Given the description of an element on the screen output the (x, y) to click on. 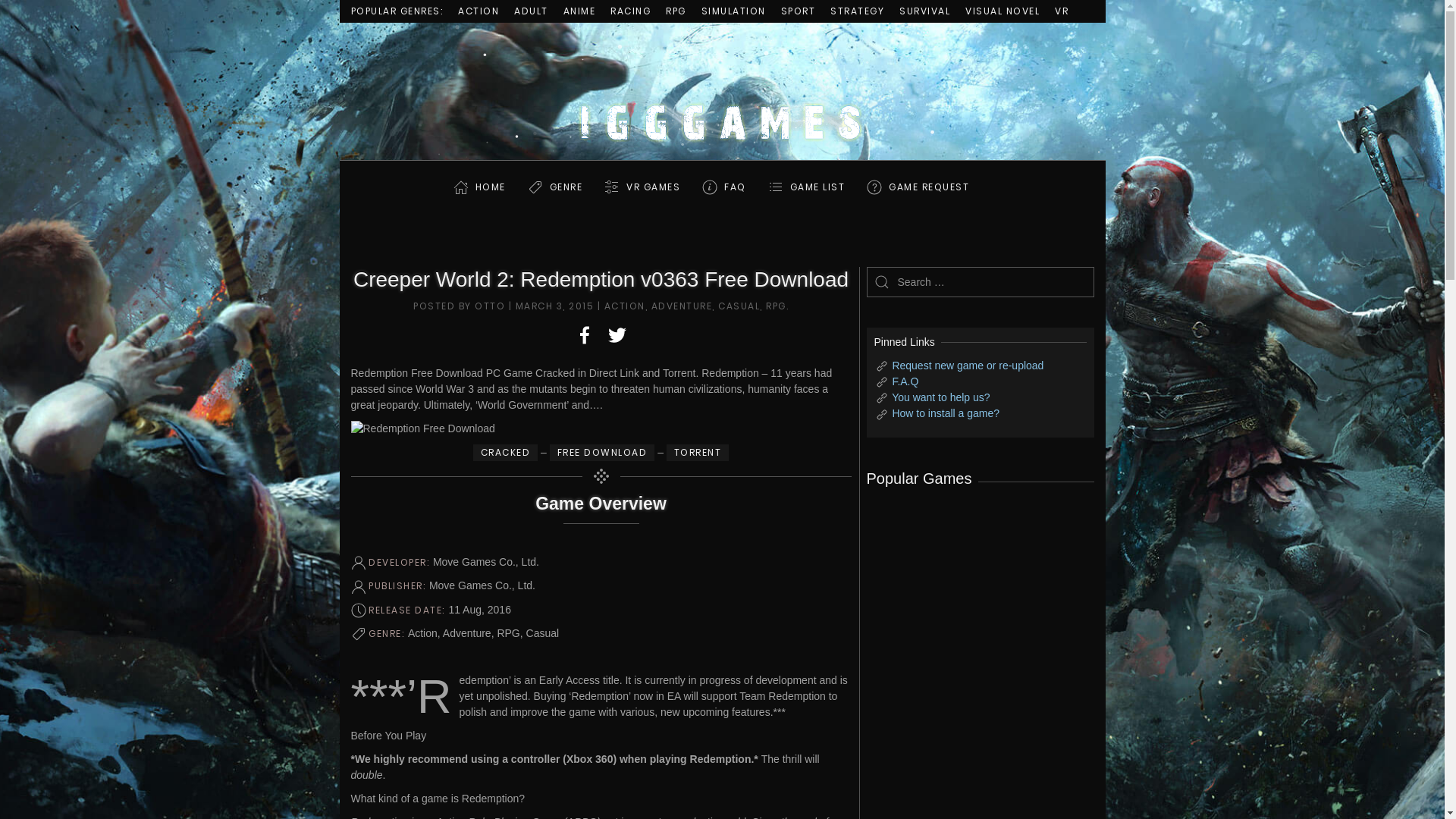
POPULAR GENRES: Element type: text (396, 11)
Request new game or re-upload Element type: text (967, 365)
FAQ Element type: text (735, 186)
You want to help us? Element type: text (940, 397)
ADVENTURE Element type: text (681, 305)
GENRE Element type: text (566, 186)
HOME Element type: text (490, 186)
RPG Element type: text (675, 11)
SIMULATION Element type: text (732, 11)
CASUAL Element type: text (738, 305)
ACTION Element type: text (623, 305)
VR Element type: text (1061, 11)
How to install a game? Element type: text (945, 413)
F.A.Q Element type: text (904, 381)
SURVIVAL Element type: text (924, 11)
ADULT Element type: text (531, 11)
Redemption Free Download Element type: hover (600, 428)
RACING Element type: text (630, 11)
STRATEGY Element type: text (857, 11)
VISUAL NOVEL Element type: text (1002, 11)
ANIME Element type: text (578, 11)
RPG Element type: text (775, 305)
ACTION Element type: text (478, 11)
GAME REQUEST Element type: text (928, 186)
SPORT Element type: text (798, 11)
GAME LIST Element type: text (817, 186)
VR GAMES Element type: text (653, 186)
